Given the description of an element on the screen output the (x, y) to click on. 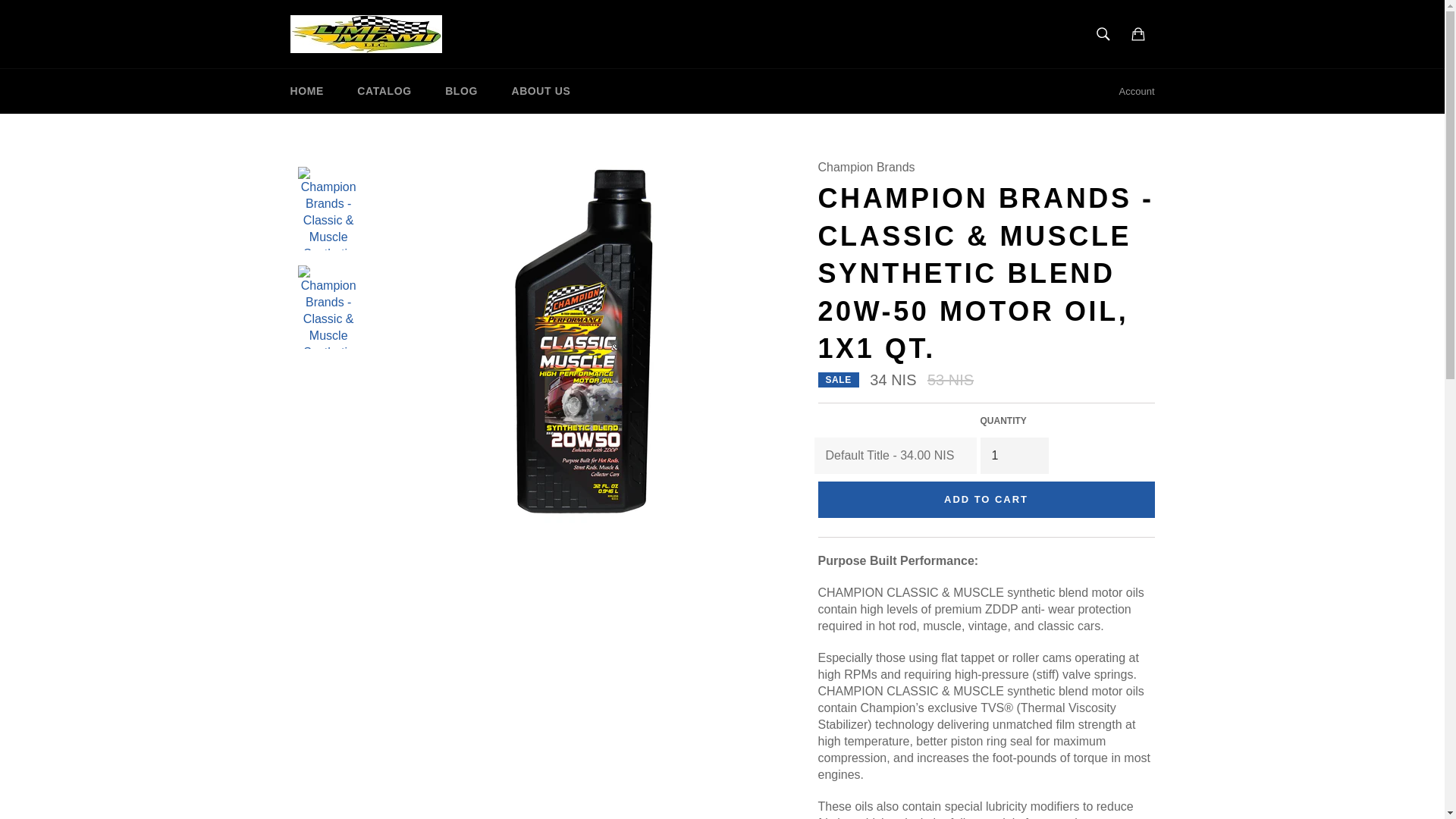
ABOUT US (540, 90)
HOME (306, 90)
CATALOG (384, 90)
Account (1136, 91)
ADD TO CART (985, 499)
BLOG (461, 90)
1 (1013, 455)
Search (1103, 33)
Cart (1138, 33)
